Given the description of an element on the screen output the (x, y) to click on. 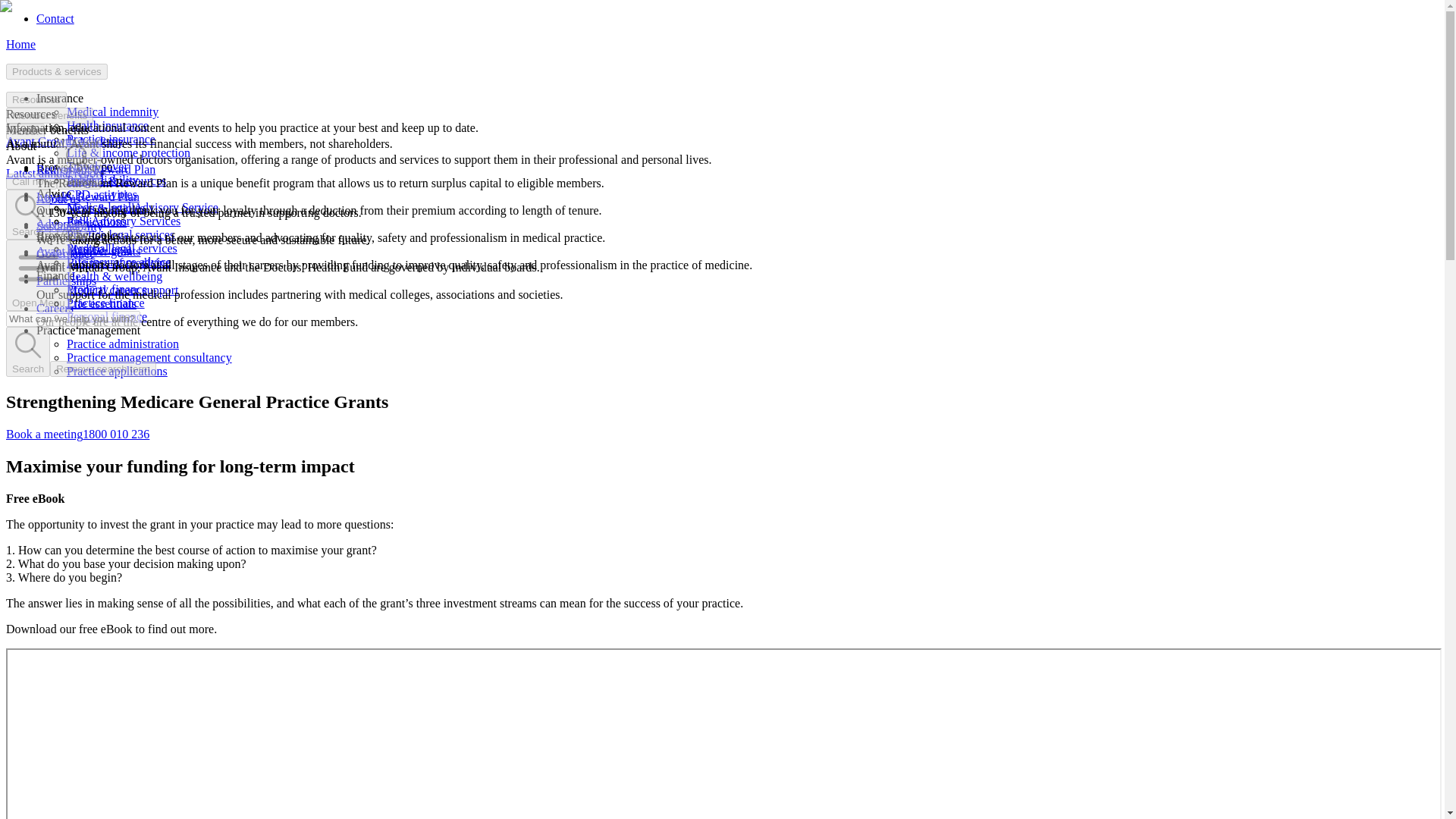
Loyalty Reward Plan (87, 196)
Practice management consultancy (148, 357)
Practice applications (116, 370)
Latest annual report (54, 173)
Member benefits (49, 115)
Resources (35, 99)
Contact (55, 18)
Medical career support (121, 289)
Property finance (106, 288)
Practice insurance (110, 138)
CPD activities (101, 194)
Personal legal services (121, 247)
Publications (96, 221)
Risk Advisory Services (123, 220)
Public liability (102, 179)
